Given the description of an element on the screen output the (x, y) to click on. 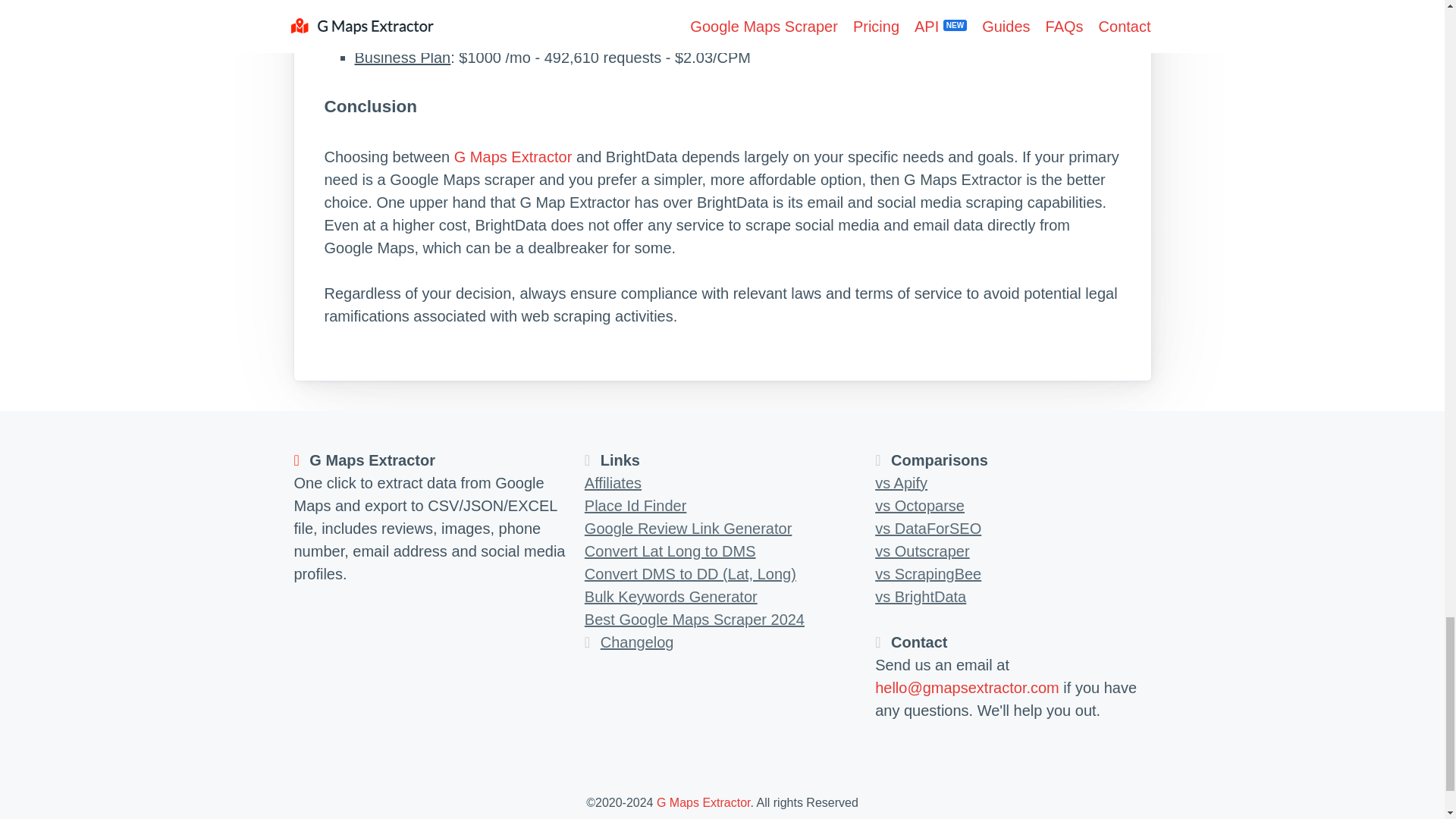
vs Octoparse (919, 505)
Convert Lat Long to DMS (670, 550)
vs BrightData (920, 596)
vs Apify (901, 483)
G Maps Extractor (513, 156)
Google Review Link Generator (688, 528)
vs ScrapingBee (928, 573)
Bulk Keywords Generator (671, 596)
G Maps Extractor (703, 802)
Changelog (636, 641)
